Given the description of an element on the screen output the (x, y) to click on. 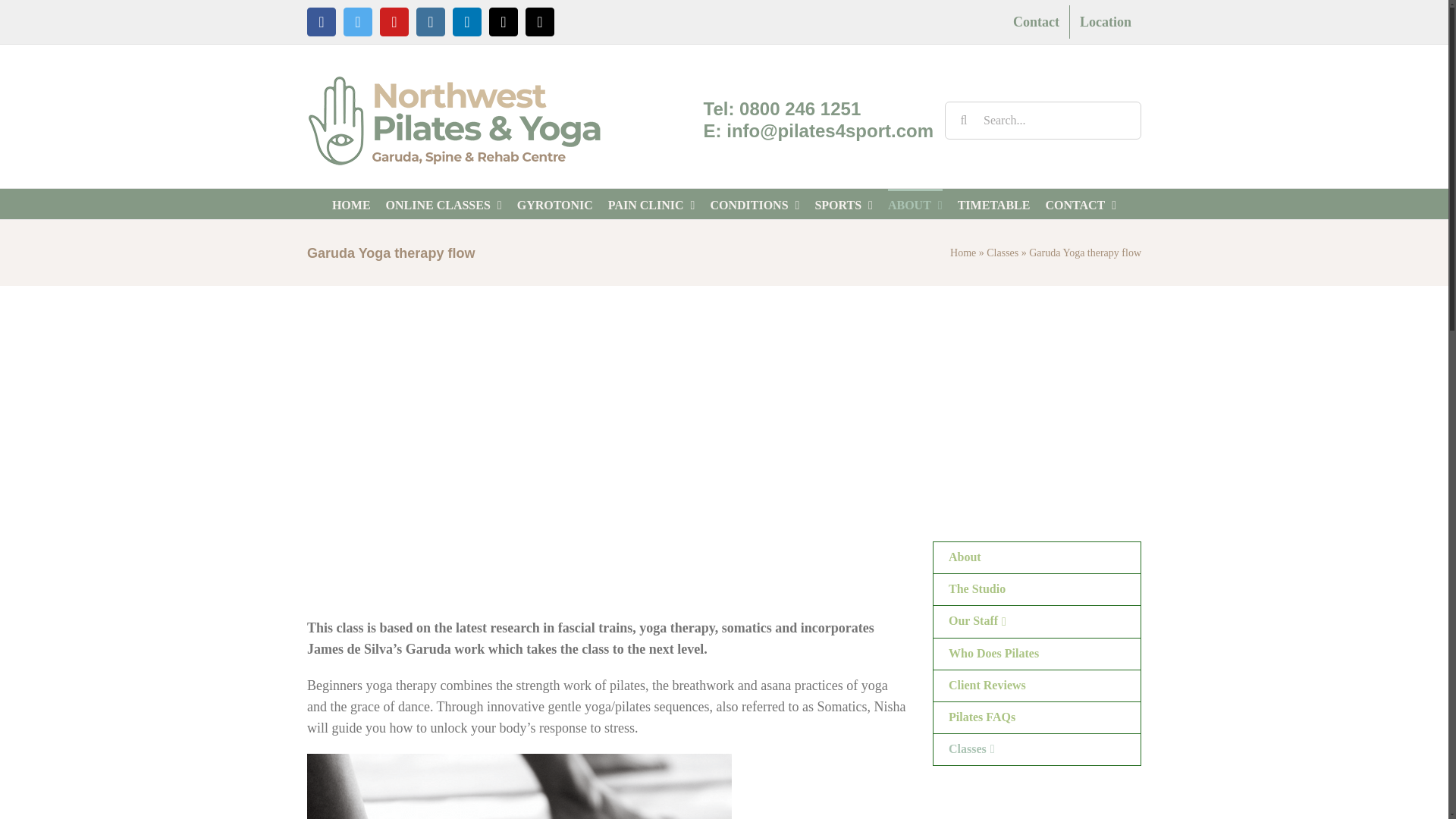
YouTube video player 1 (591, 705)
Twitter (357, 21)
Email (503, 21)
Facebook (321, 21)
Contact (1035, 21)
Instagram (430, 21)
Email (503, 21)
SPORTS (842, 204)
YouTube (394, 21)
LinkedIn (466, 21)
